Given the description of an element on the screen output the (x, y) to click on. 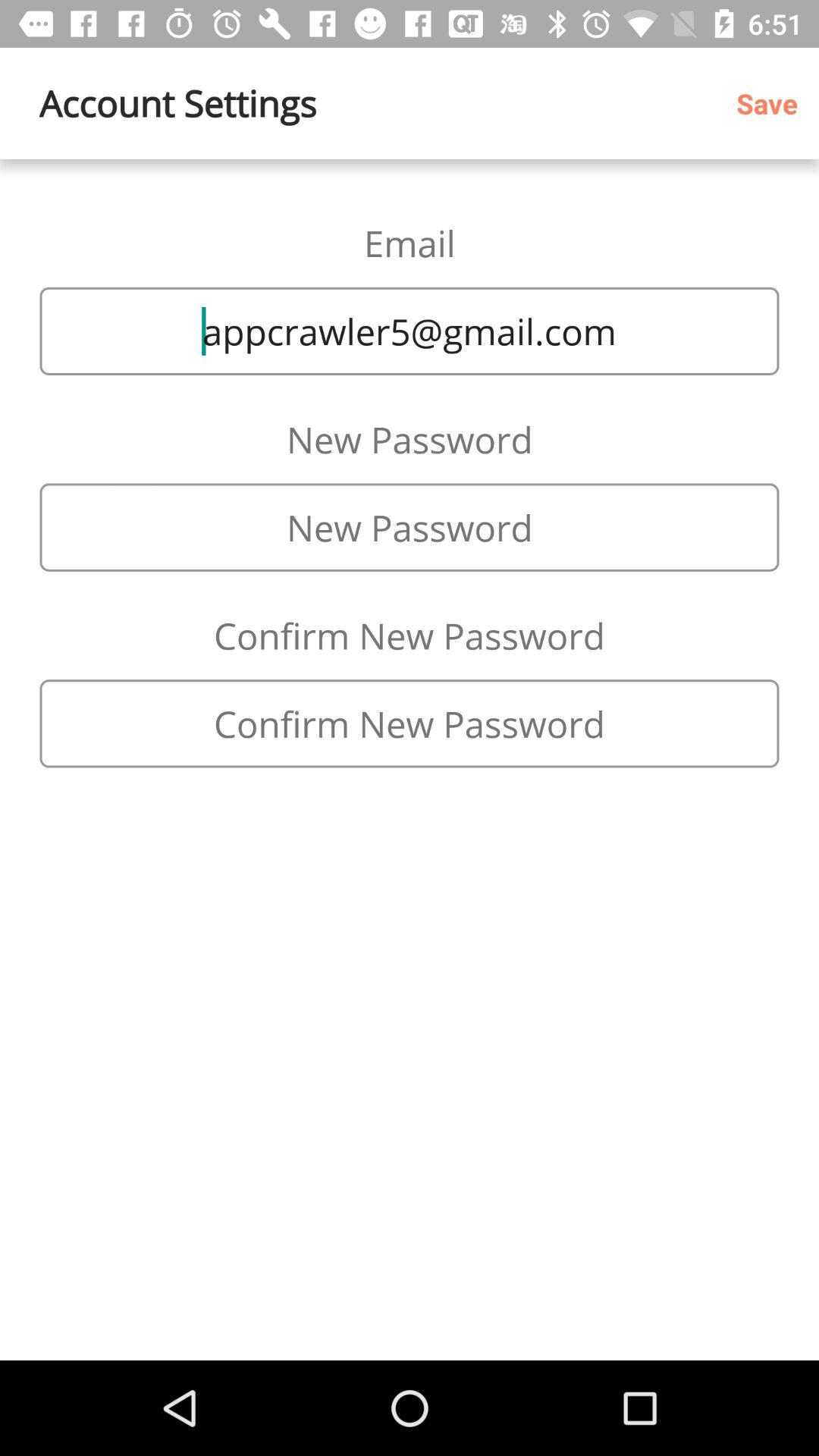
change to the new password (409, 723)
